Given the description of an element on the screen output the (x, y) to click on. 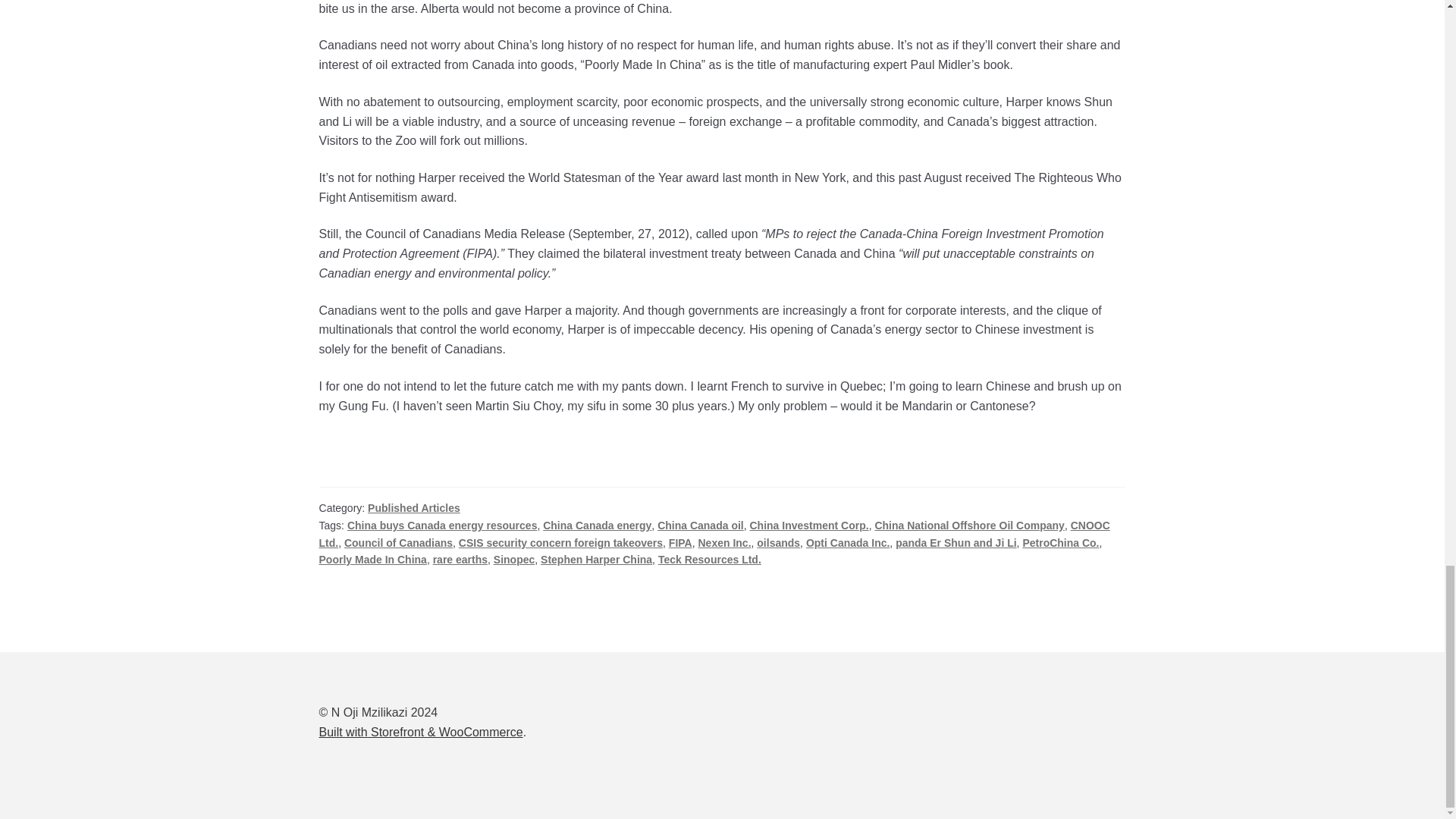
oilsands (778, 542)
Opti Canada Inc. (847, 542)
WooCommerce - The Best eCommerce Platform for WordPress (420, 731)
China Canada energy (596, 525)
FIPA (680, 542)
Council of Canadians (397, 542)
China buys Canada energy resources (442, 525)
China Canada oil (701, 525)
China Investment Corp. (808, 525)
China National Offshore Oil Company (969, 525)
